Given the description of an element on the screen output the (x, y) to click on. 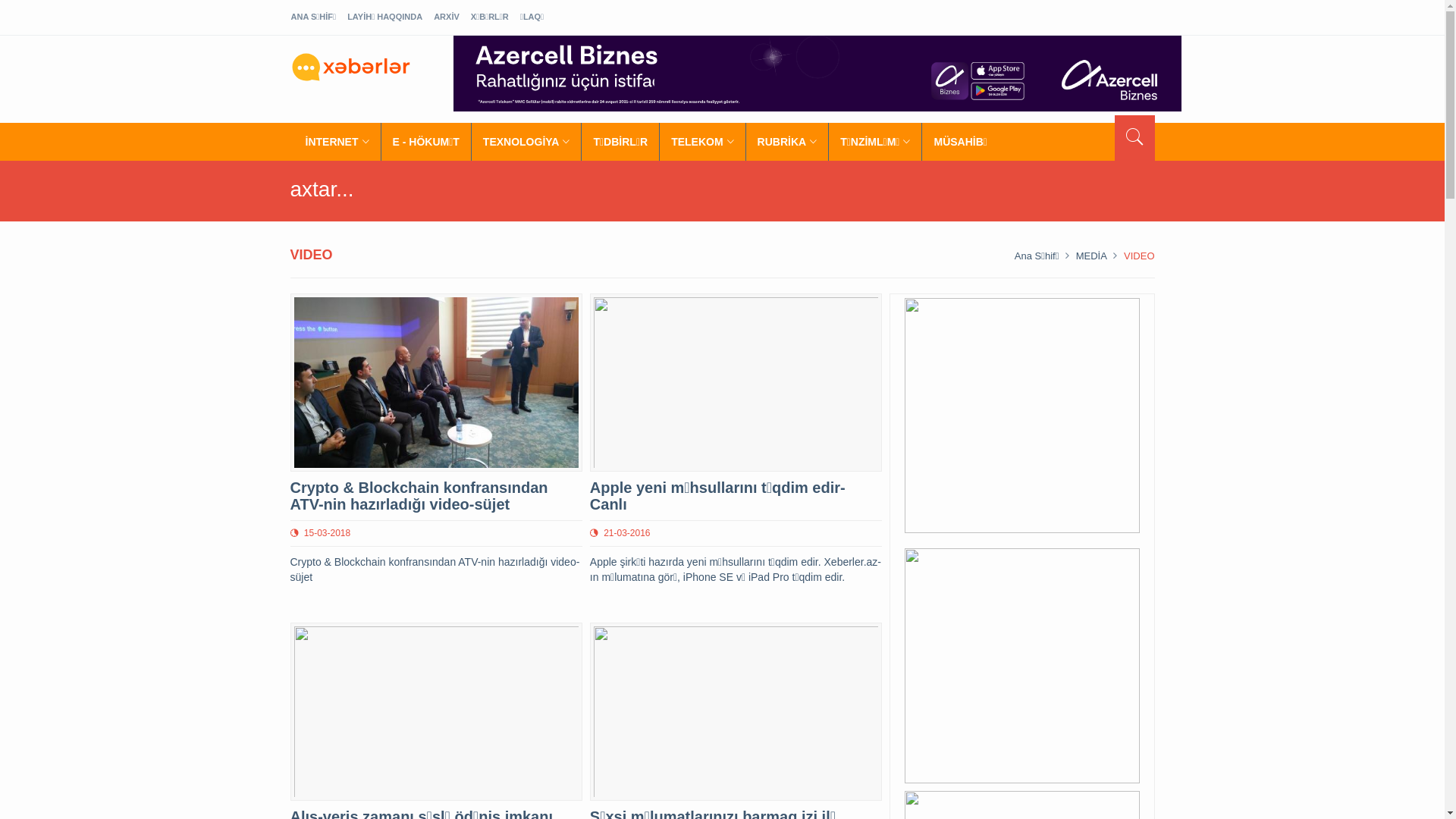
TELEKOM Element type: text (702, 141)
